Given the description of an element on the screen output the (x, y) to click on. 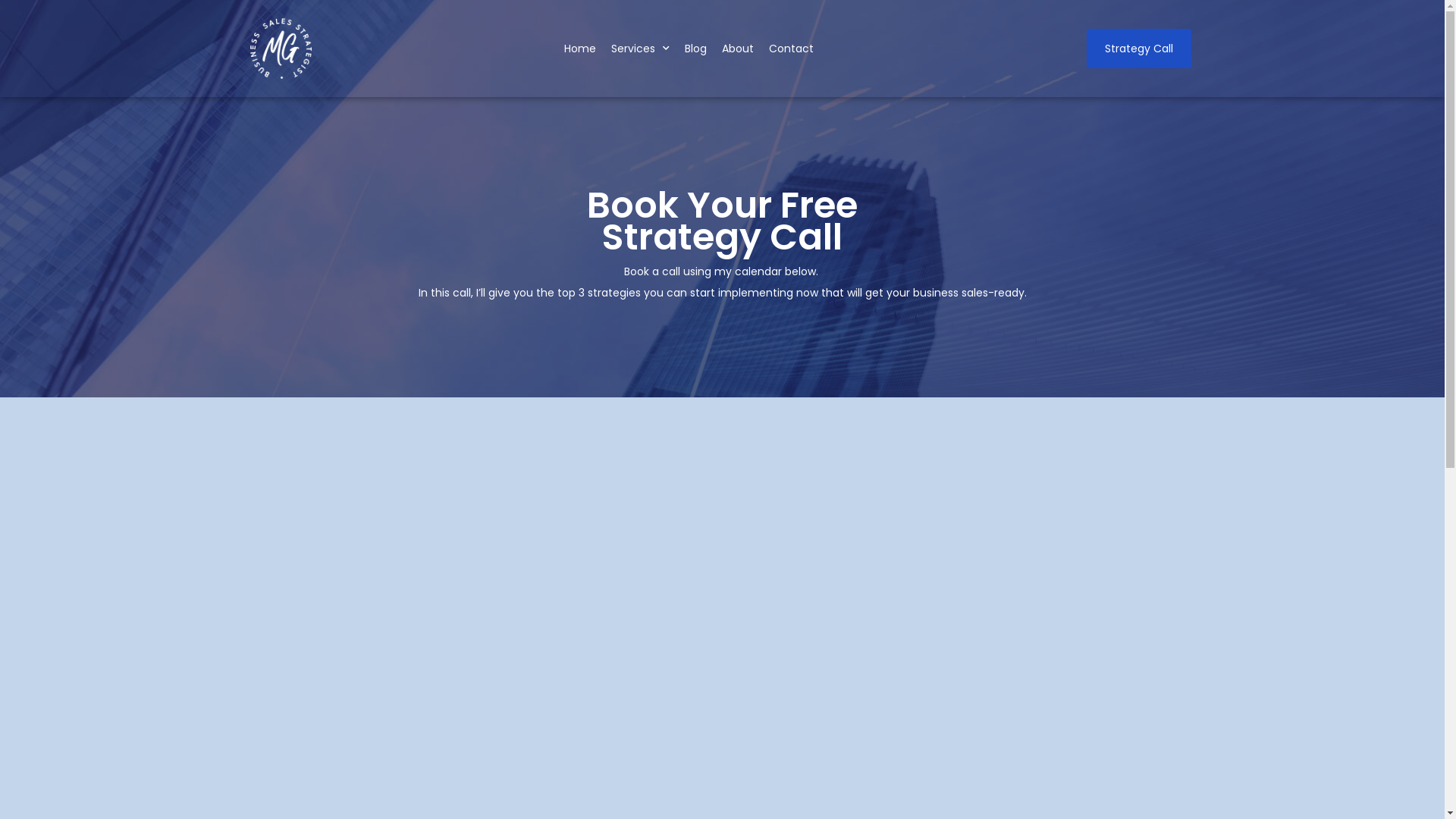
Services Element type: text (640, 48)
Blog Element type: text (695, 48)
Home Element type: text (580, 48)
Strategy Call Element type: text (1138, 48)
Contact Element type: text (790, 48)
About Element type: text (737, 48)
